Given the description of an element on the screen output the (x, y) to click on. 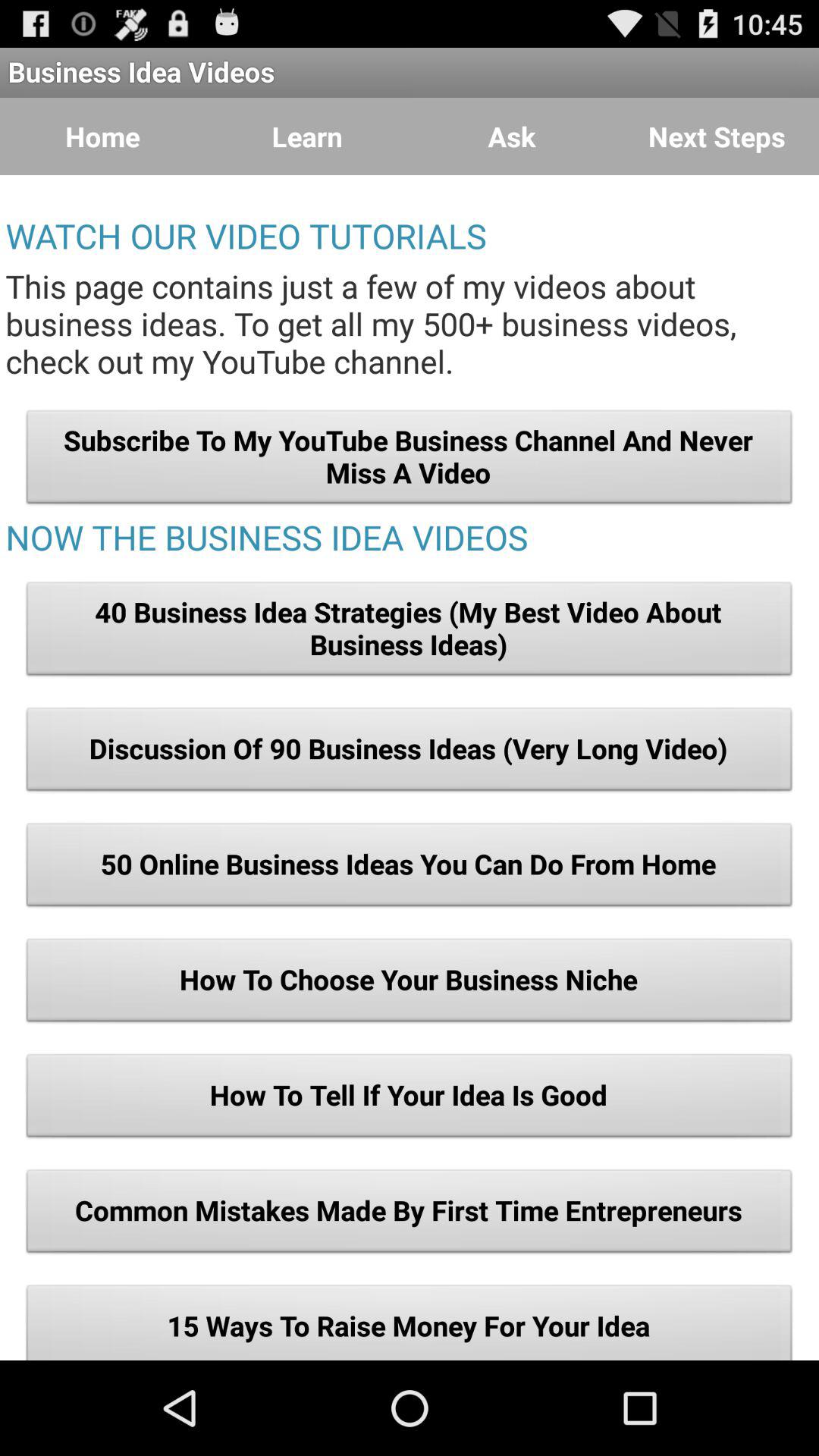
tap item at the top right corner (716, 136)
